Given the description of an element on the screen output the (x, y) to click on. 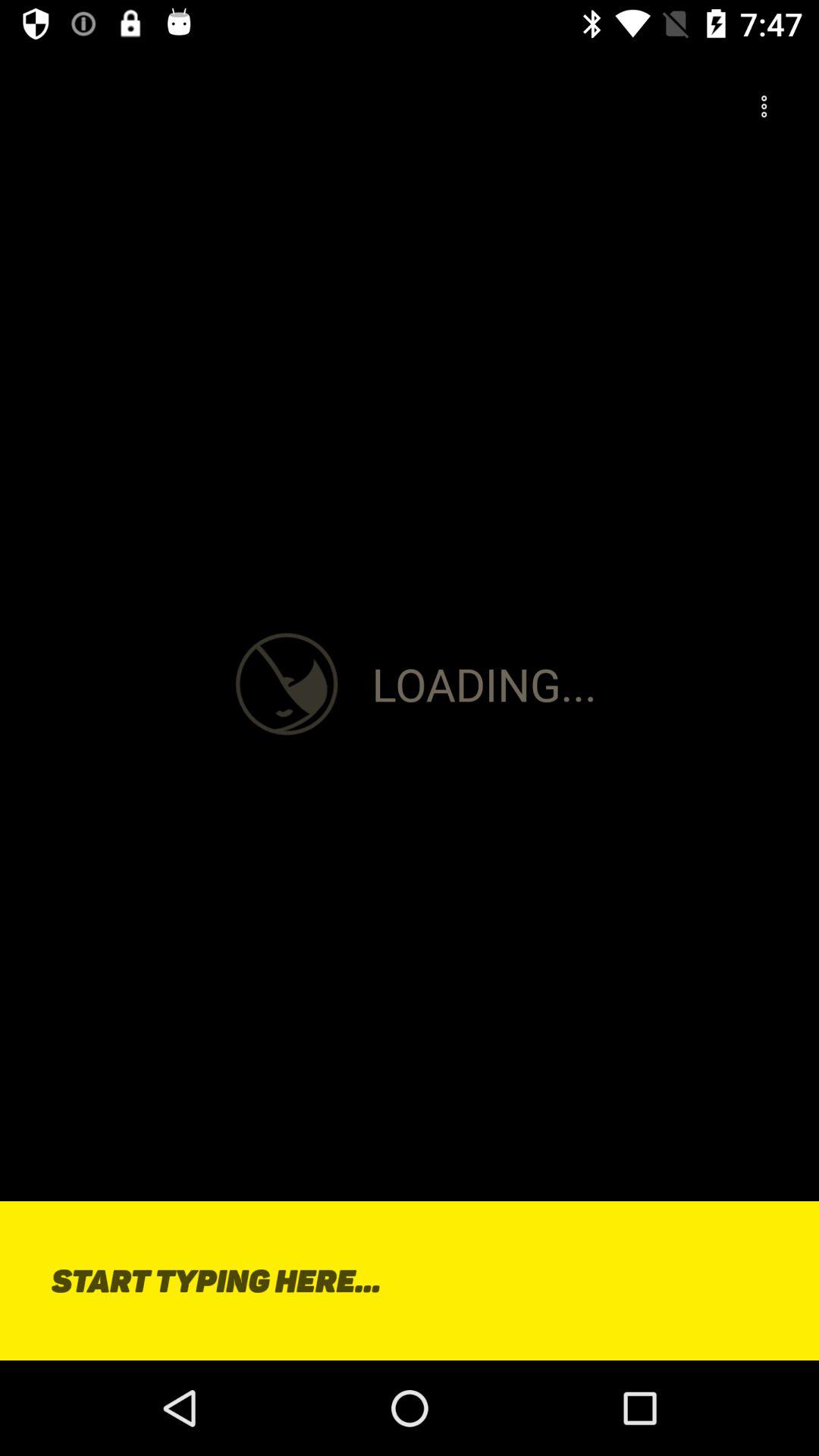
launch the item at the top right corner (764, 107)
